Given the description of an element on the screen output the (x, y) to click on. 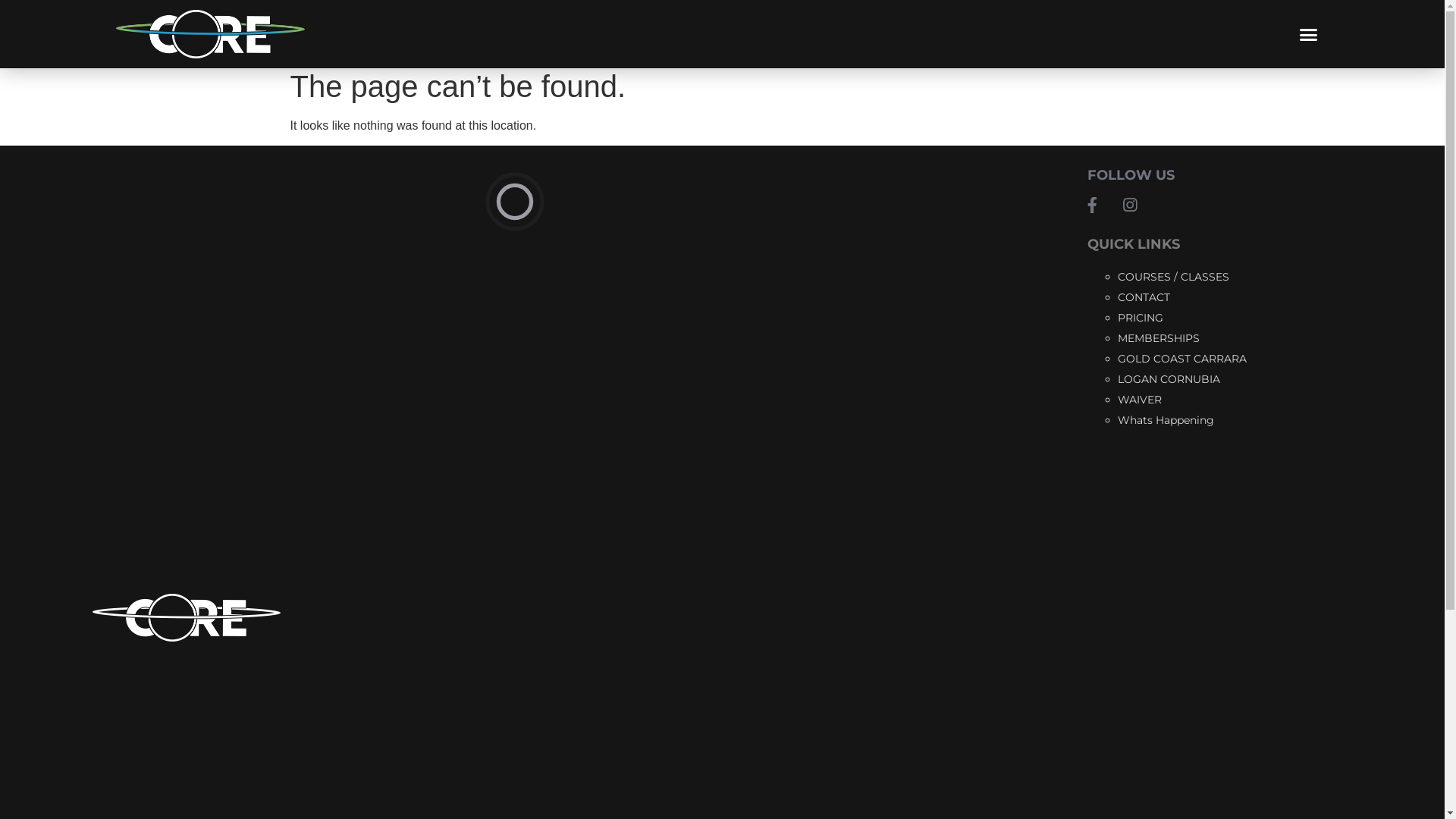
WAIVER Element type: text (1139, 399)
LOGAN CORNUBIA Element type: text (1168, 378)
COURSES / CLASSES Element type: text (1173, 276)
Whats Happening Element type: text (1165, 419)
MEMBERSHIPS Element type: text (1158, 338)
GOLD COAST CARRARA Element type: text (1181, 358)
CONTACT Element type: text (1143, 297)
PRICING Element type: text (1140, 317)
